Given the description of an element on the screen output the (x, y) to click on. 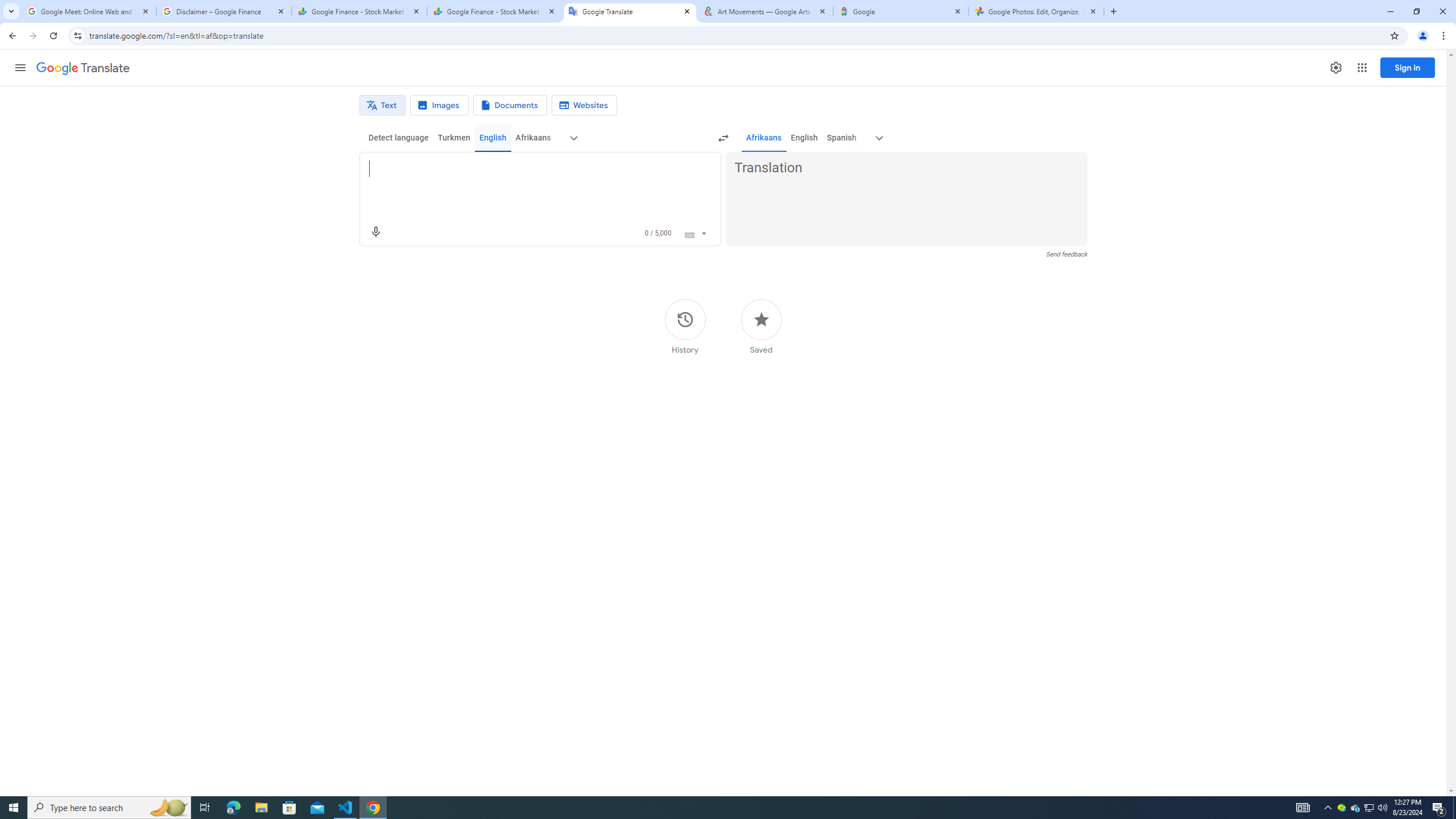
Saved (761, 326)
Translate by voice (375, 231)
Swap languages (Ctrl+Shift+S) (723, 137)
Google Translate (630, 11)
Document translation (510, 105)
0 of 5,000 characters used (658, 232)
Detect language (398, 137)
